Given the description of an element on the screen output the (x, y) to click on. 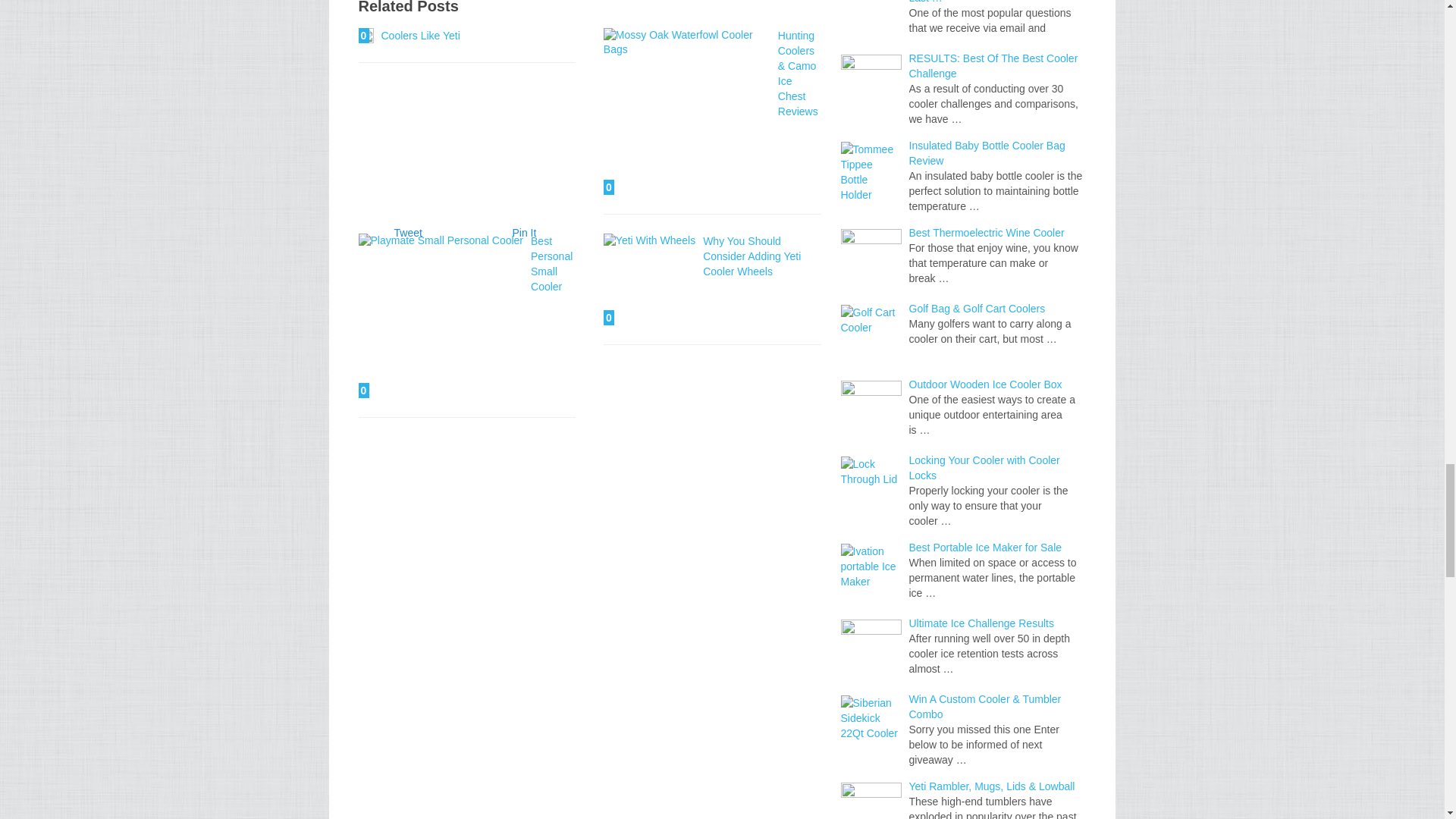
Coolers Like Yeti (365, 35)
Why You Should Consider Adding Yeti Cooler Wheels (649, 279)
Why You Should Consider Adding Yeti Cooler Wheels (751, 256)
Coolers Like Yeti (420, 35)
Best Personal Small Cooler (440, 315)
